Given the description of an element on the screen output the (x, y) to click on. 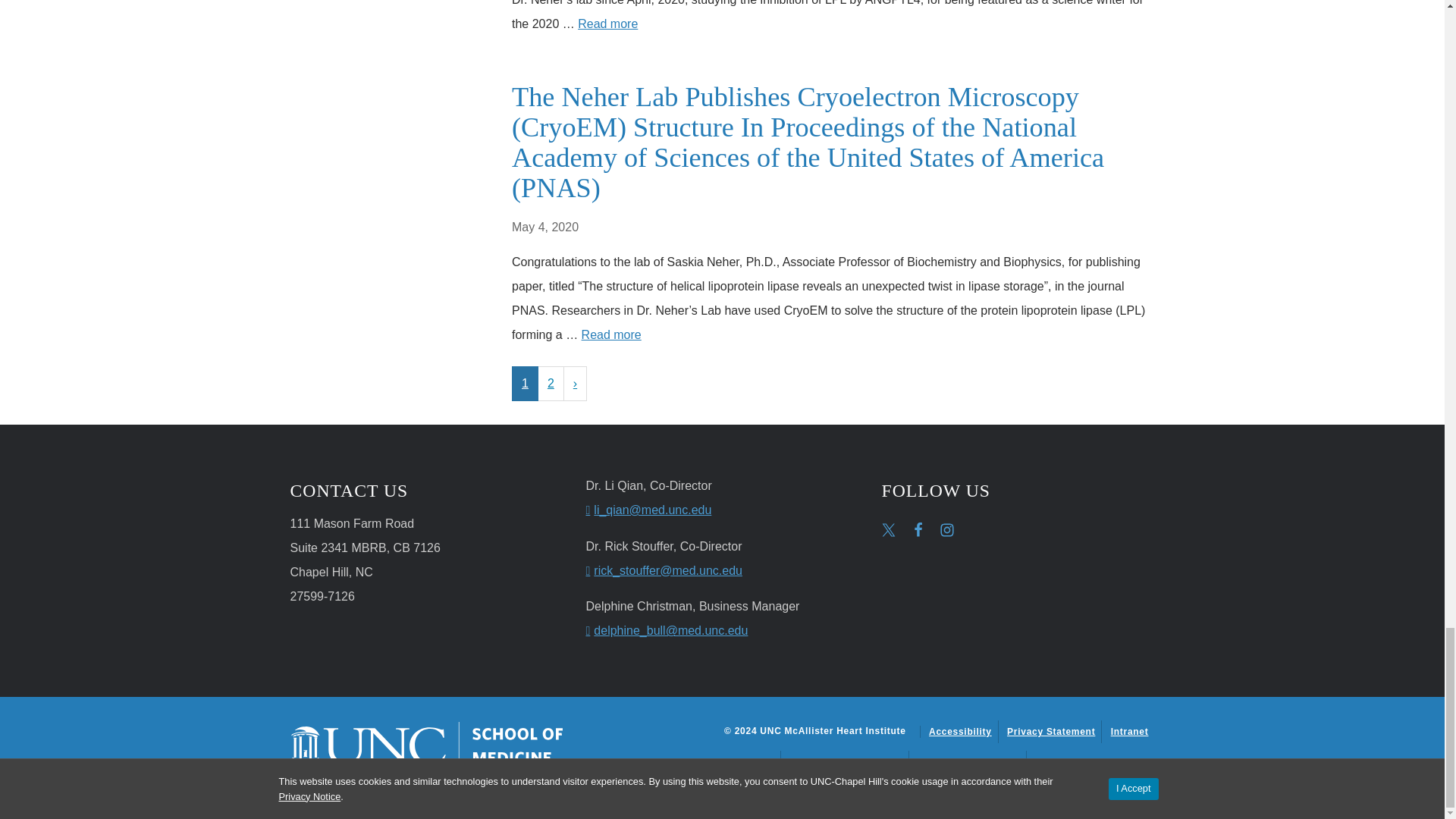
UNC School of Medicine (425, 745)
Read more (607, 23)
